Given the description of an element on the screen output the (x, y) to click on. 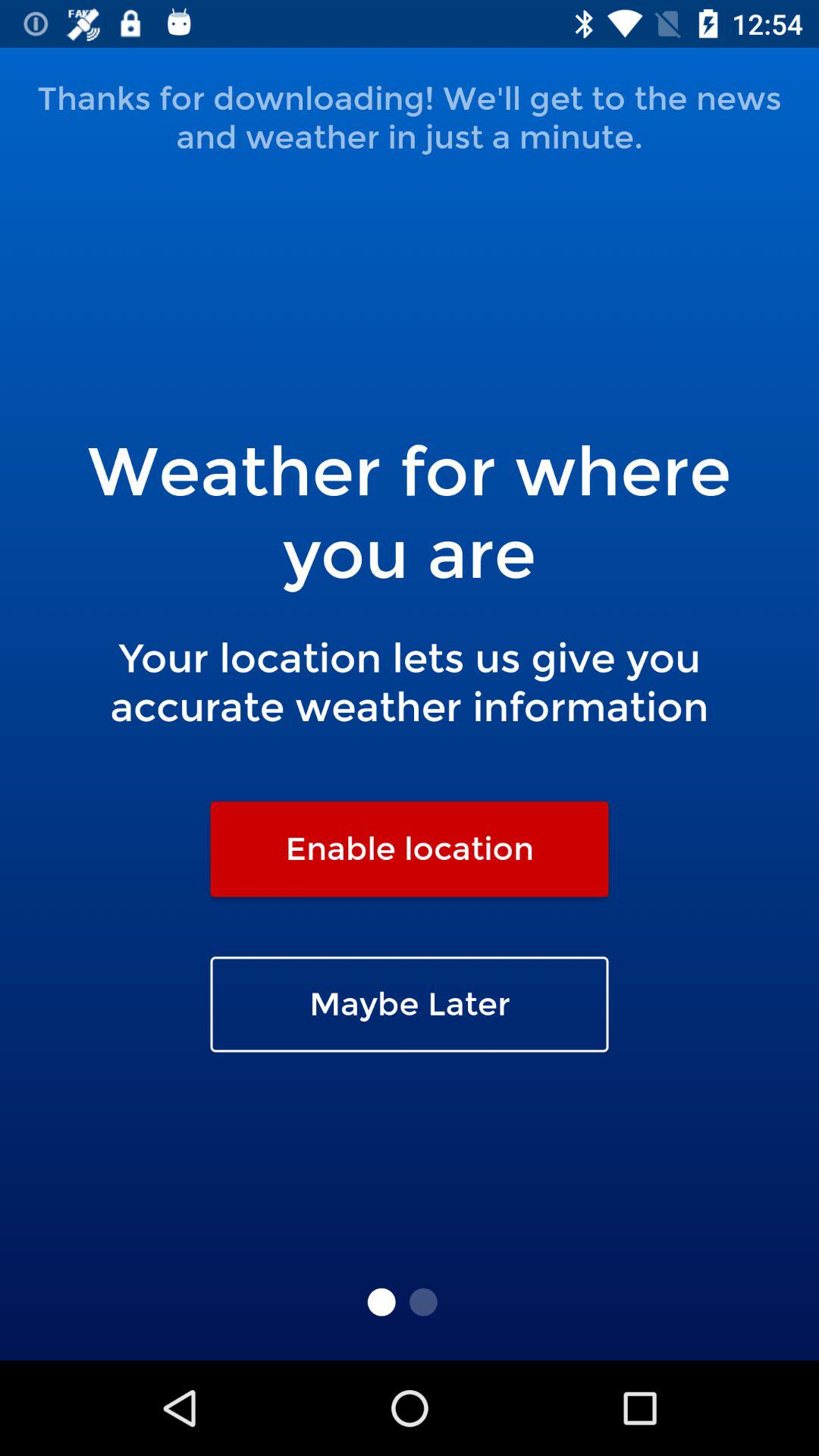
press maybe later (409, 1004)
